Given the description of an element on the screen output the (x, y) to click on. 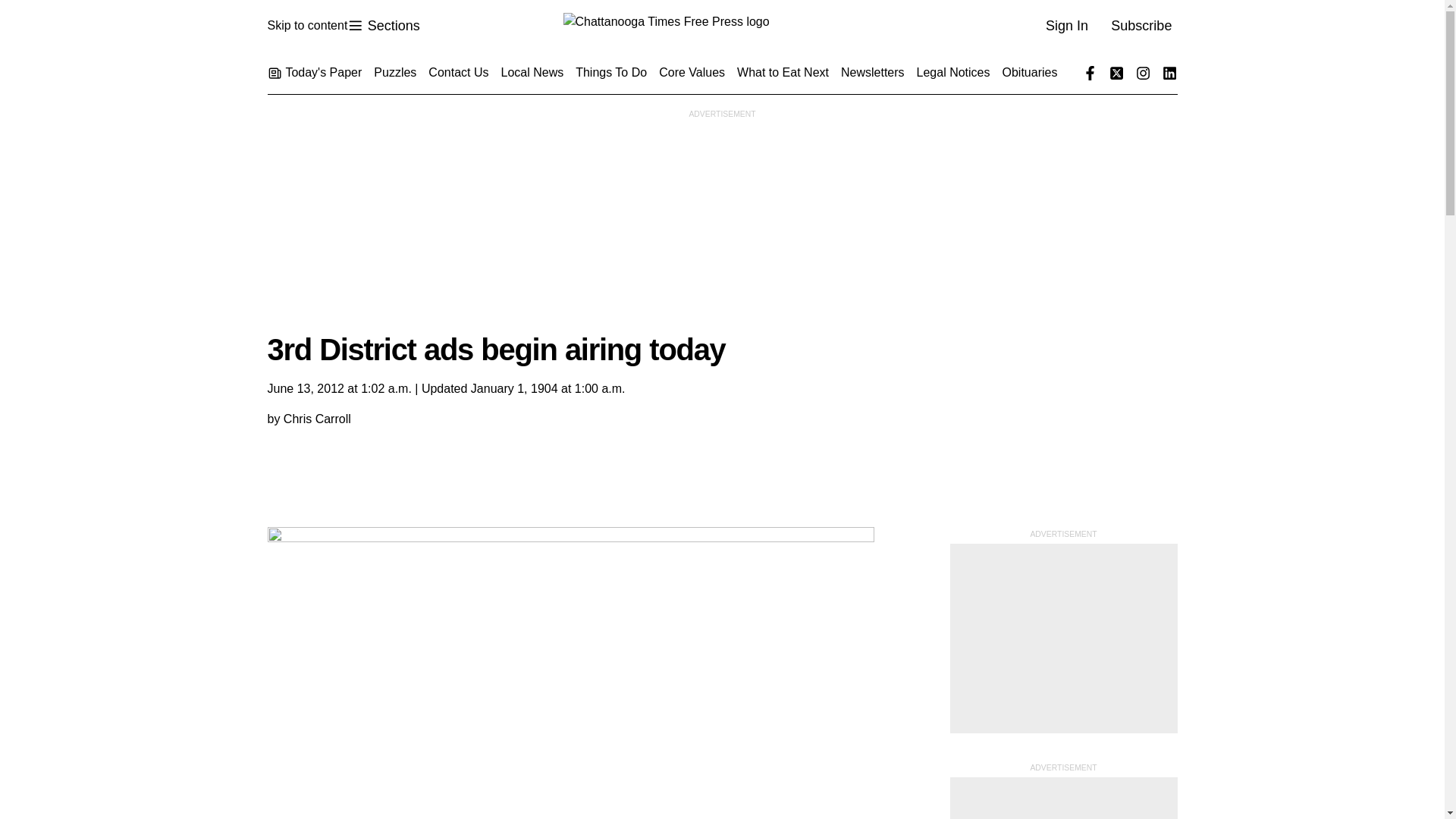
Times Free Press (383, 25)
Skip to content (721, 25)
